Given the description of an element on the screen output the (x, y) to click on. 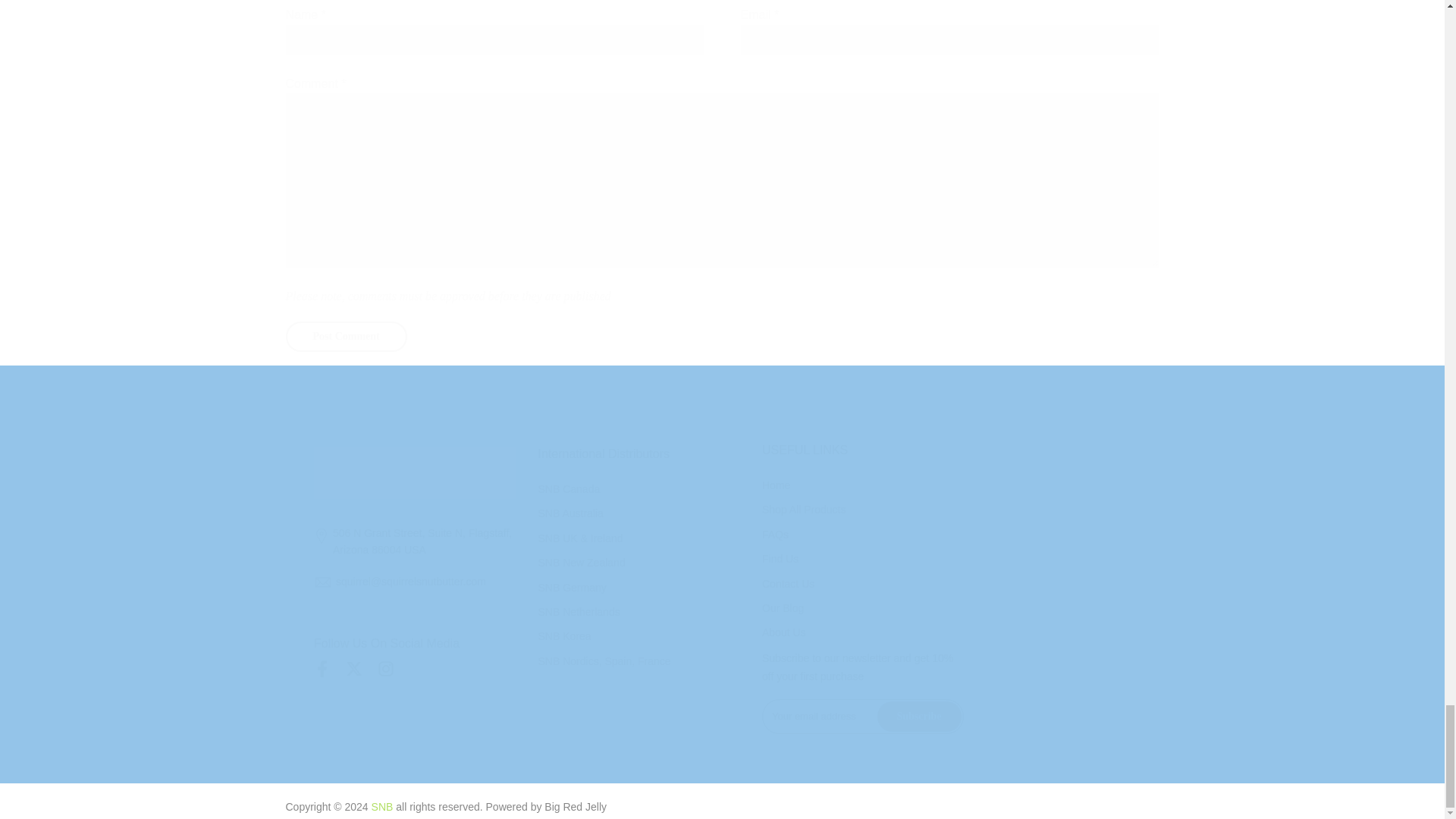
Post Comment (345, 336)
